Given the description of an element on the screen output the (x, y) to click on. 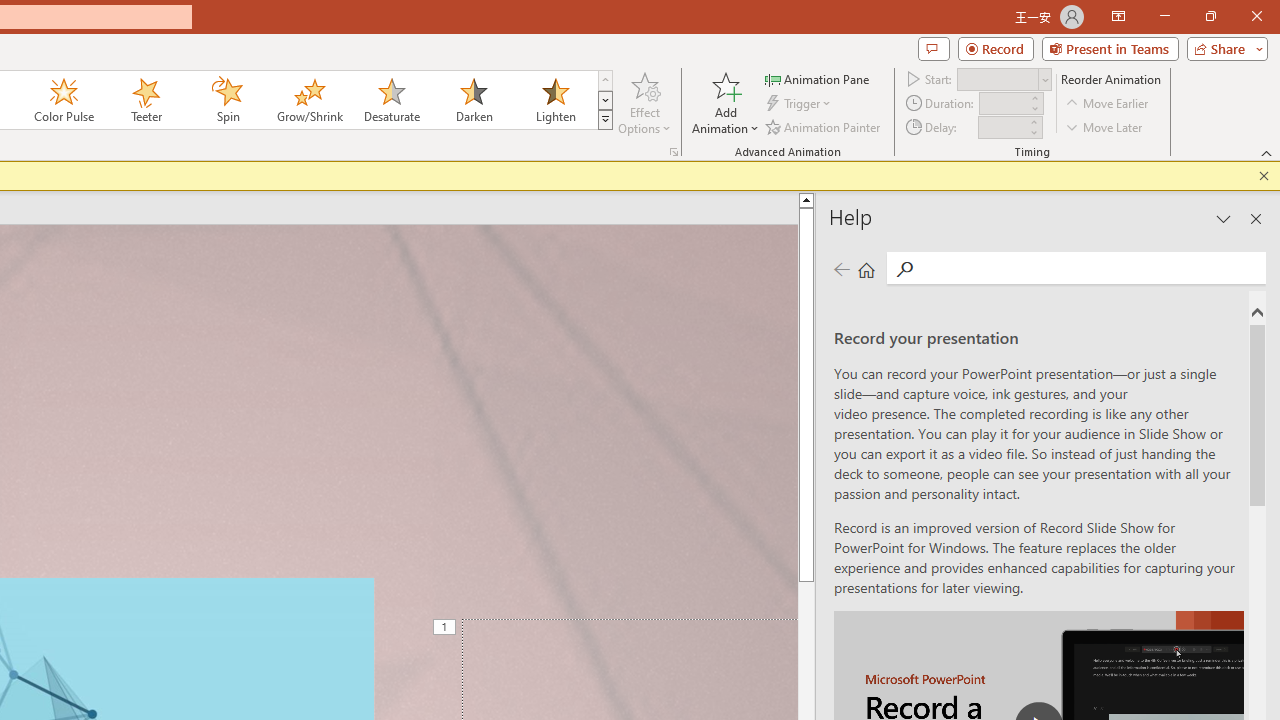
Animation Pane (818, 78)
Close this message (1263, 176)
Previous page (841, 269)
Animation Delay (1002, 127)
Darken (473, 100)
Move Earlier (1107, 103)
Less (1033, 132)
Color Pulse (63, 100)
